Given the description of an element on the screen output the (x, y) to click on. 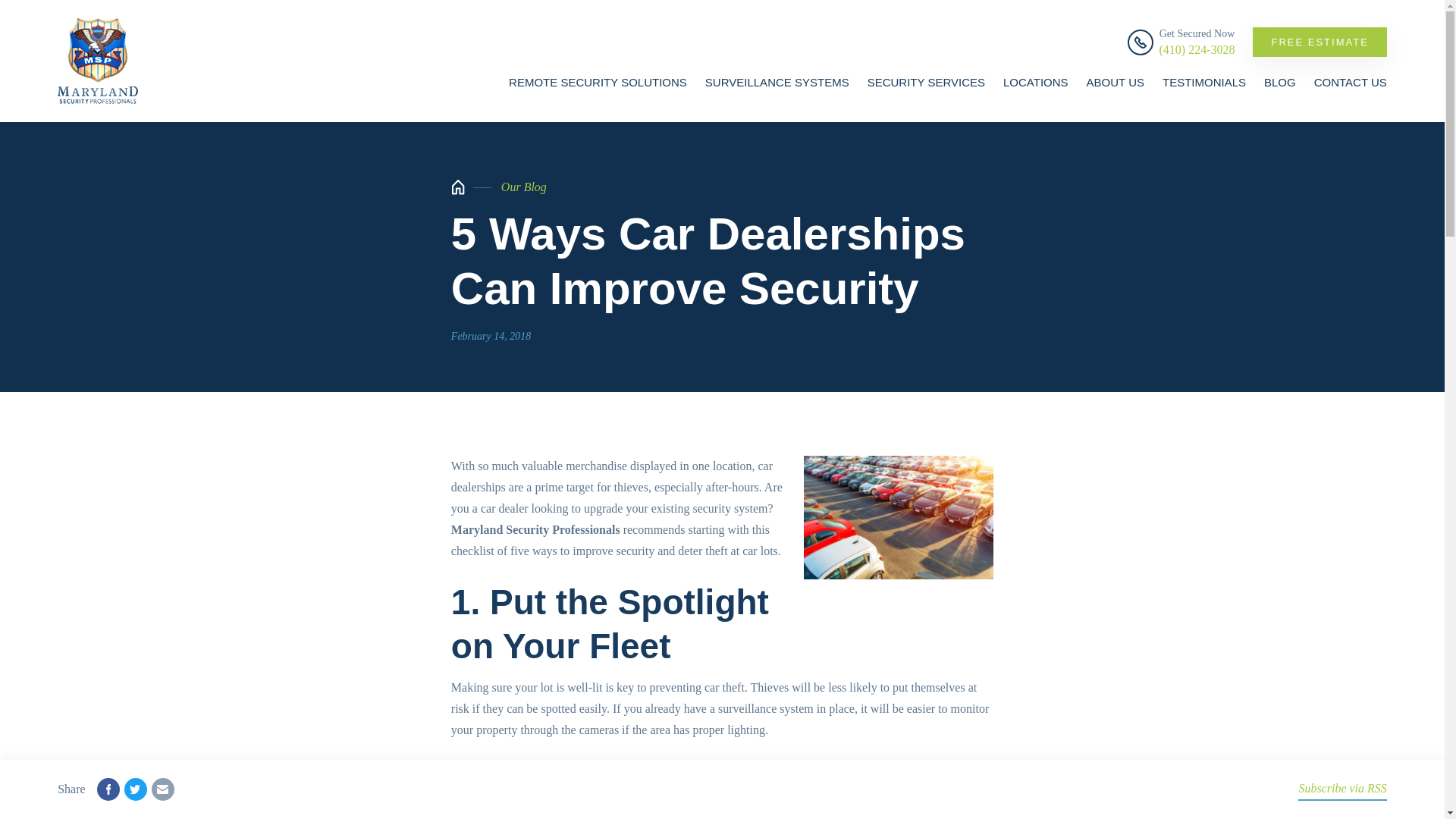
SECURITY SERVICES (926, 82)
SURVEILLANCE SYSTEMS (776, 82)
ABOUT US (1115, 82)
TESTIMONIALS (1203, 82)
CONTACT US (1350, 82)
REMOTE SECURITY SOLUTIONS (597, 82)
BLOG (1279, 82)
FREE ESTIMATE (1319, 41)
Subscribe via RSS (1342, 789)
Our Blog (523, 187)
